Given the description of an element on the screen output the (x, y) to click on. 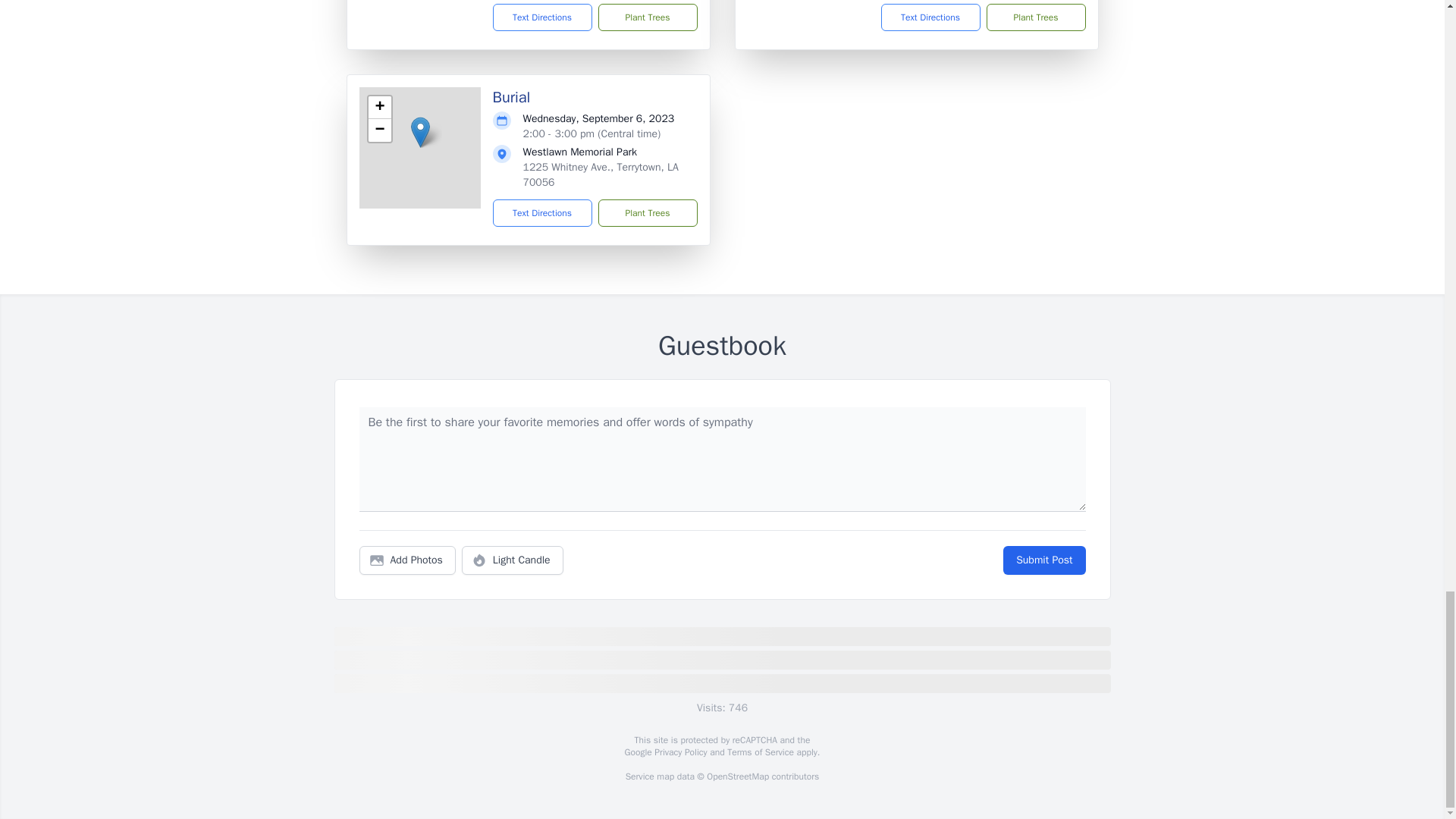
Plant Trees (1034, 17)
Zoom out (379, 129)
Plant Trees (646, 17)
1225 Whitney Ave., Terrytown, LA 70056 (600, 174)
Text Directions (929, 17)
Text Directions (542, 17)
Zoom in (379, 107)
Text Directions (542, 212)
